Given the description of an element on the screen output the (x, y) to click on. 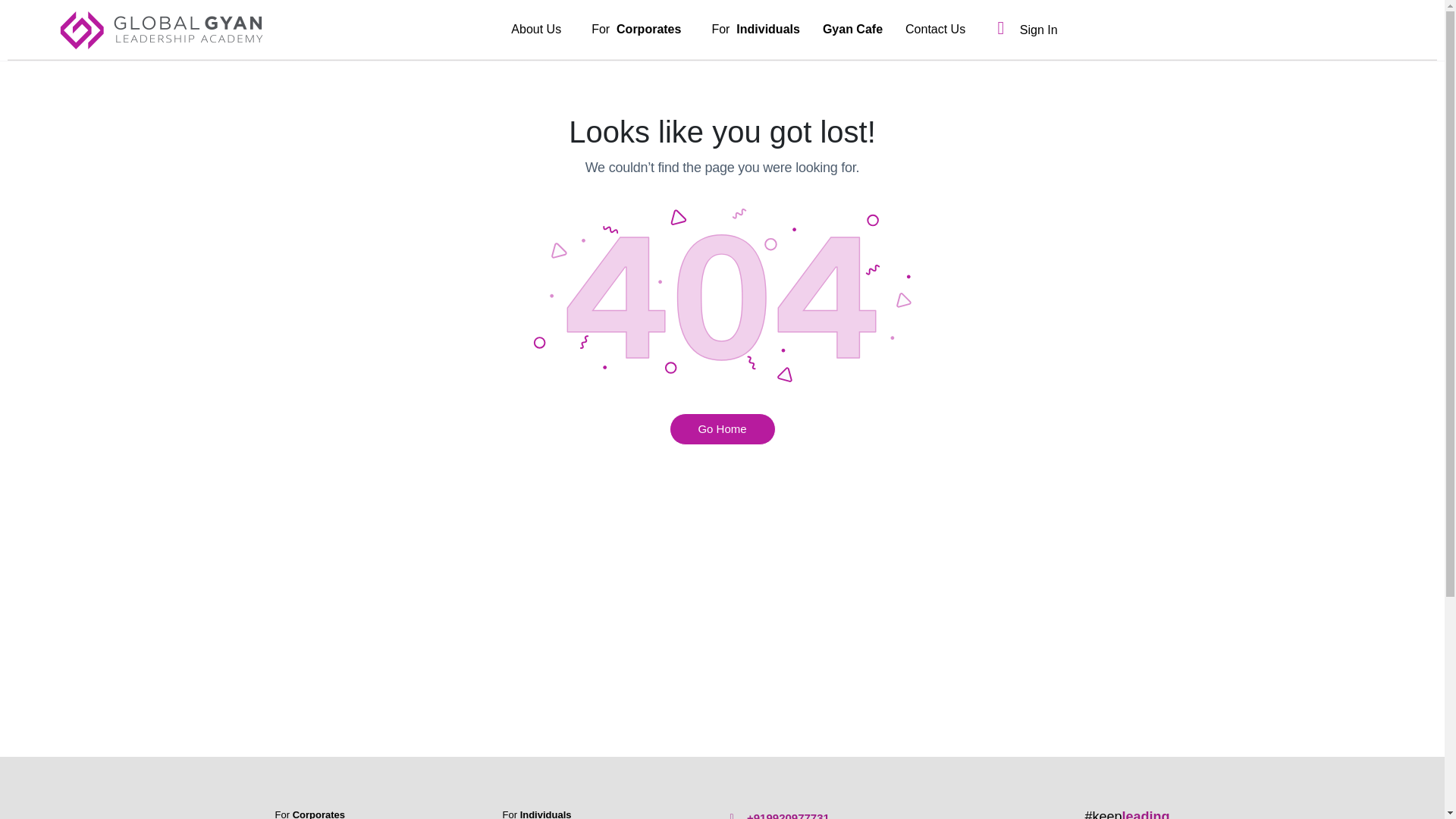
Go Home (755, 29)
For Corporates (721, 429)
Sign In (639, 29)
About Us (309, 814)
Contact Us (1022, 30)
Gyan Cafe (539, 29)
